Given the description of an element on the screen output the (x, y) to click on. 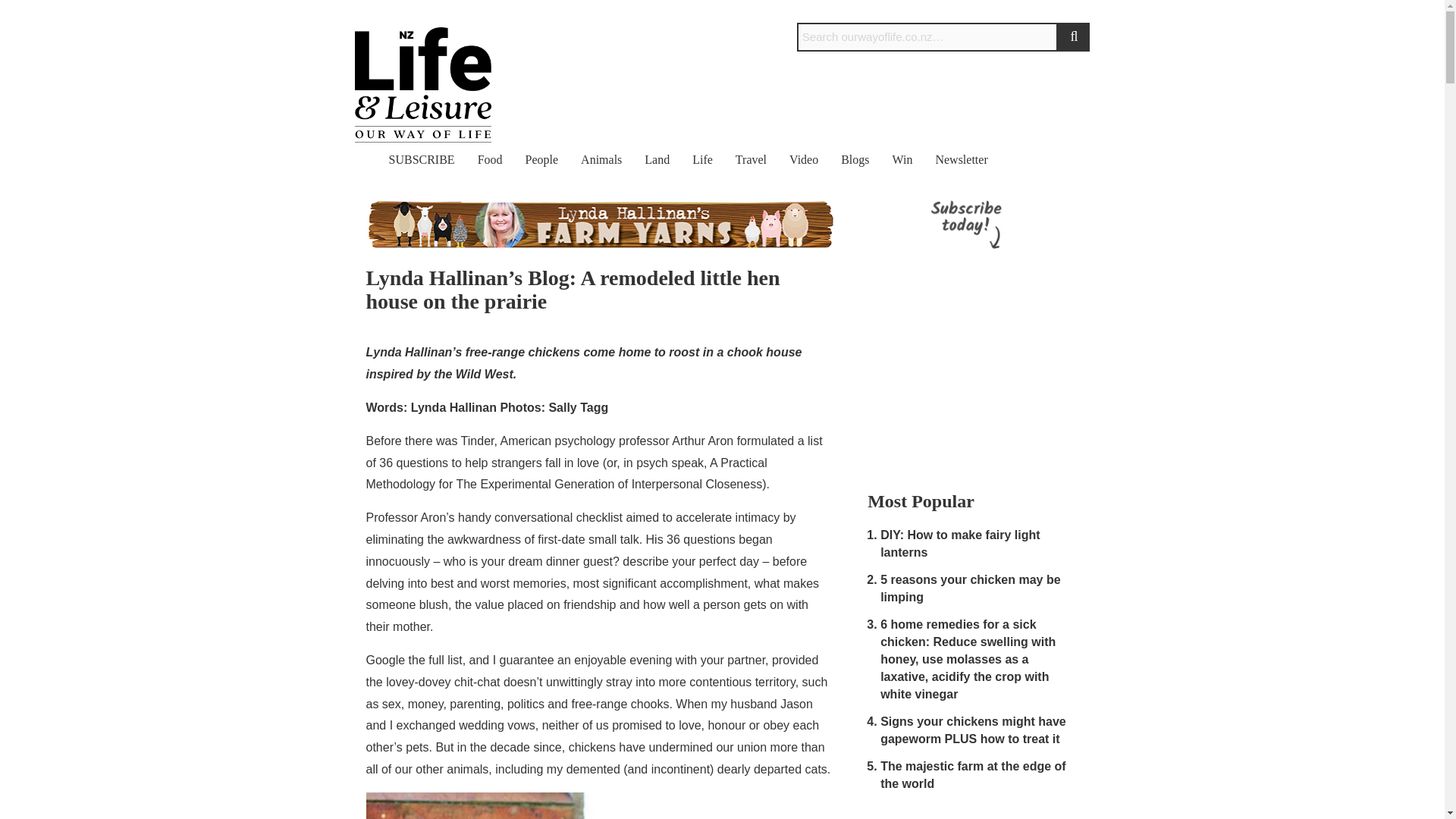
Food (489, 159)
Contact Us (1002, 10)
SUBSCRIBE (421, 159)
Land (657, 159)
Advertise (942, 10)
Life (703, 159)
Blogs (855, 159)
Subscribe (1061, 10)
People (542, 159)
DIY: How to make fairy light lanterns (959, 543)
Search for: (927, 36)
The majestic farm at the edge of the world (972, 775)
Signs your chickens might have gapeworm PLUS how to treat it (972, 729)
Travel (751, 159)
